Given the description of an element on the screen output the (x, y) to click on. 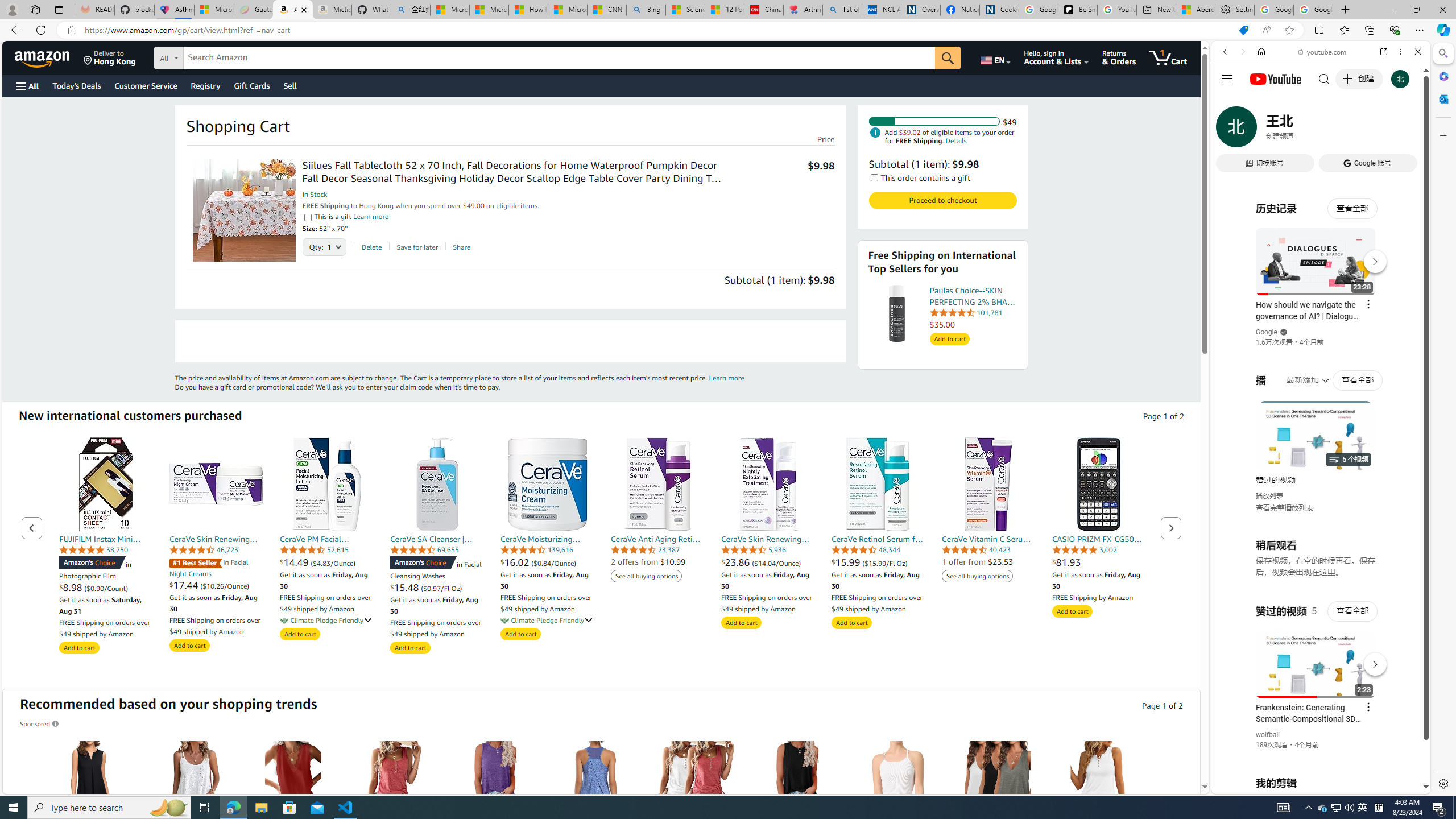
CNN - MSN (606, 9)
